Given the description of an element on the screen output the (x, y) to click on. 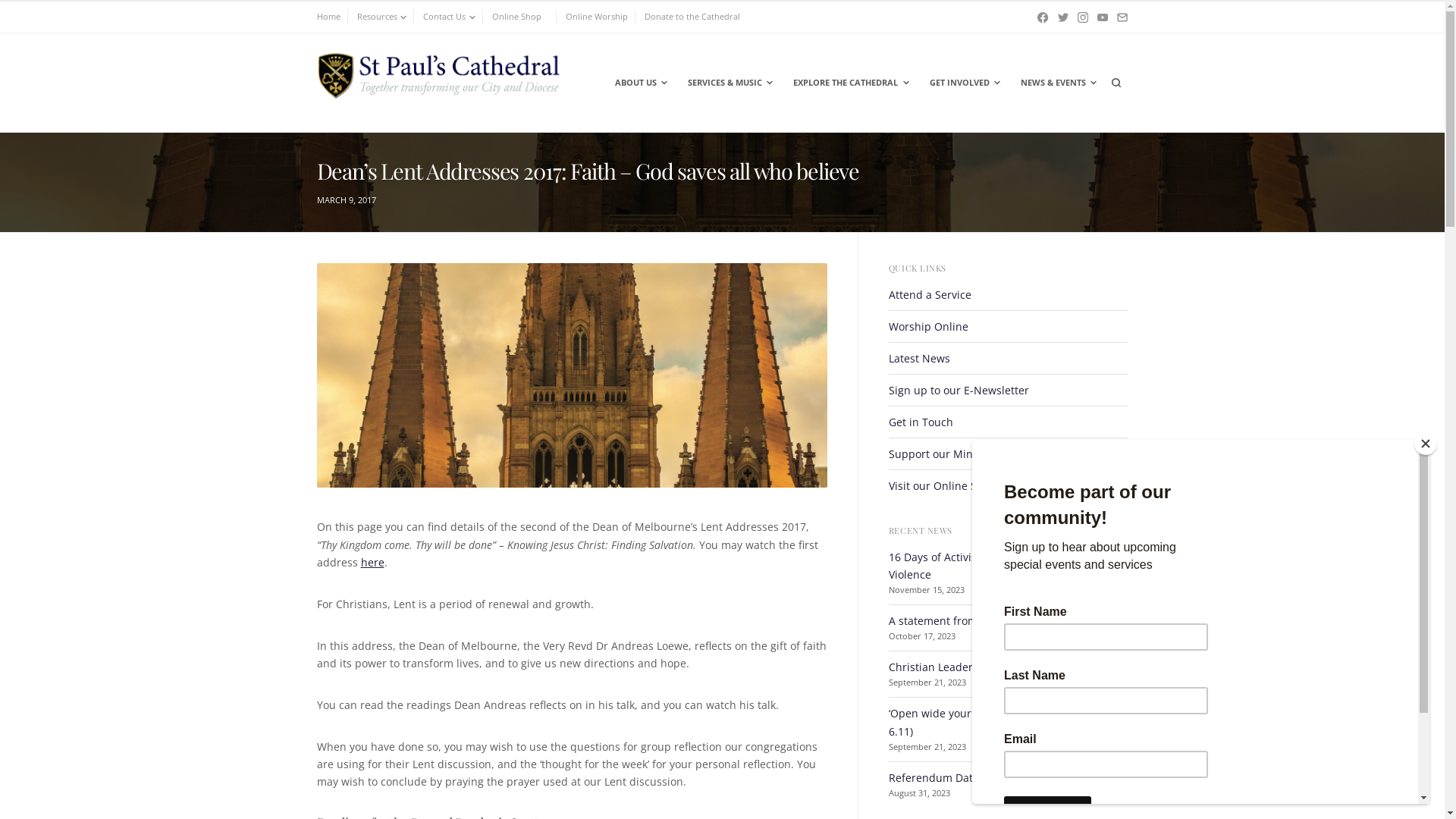
Home Element type: text (328, 16)
Twitter Element type: text (1062, 16)
Online Worship Element type: text (596, 16)
Resources Element type: text (381, 16)
Support our Ministry Element type: text (941, 453)
OPEN A SEARCH BOX Element type: text (1115, 82)
Contact Us Element type: text (449, 16)
Facebook Element type: text (1042, 16)
Worship Online Element type: text (928, 326)
Attend a Service Element type: text (929, 294)
Email Element type: text (1122, 16)
Instagram Element type: text (1082, 16)
Sign up to our E-Newsletter Element type: text (958, 389)
Latest News Element type: text (919, 358)
Christian Leaders Affirm, Pray for the Voice Element type: text (997, 666)
ABOUT US Element type: text (639, 82)
NEWS & EVENTS Element type: text (1057, 82)
EXPLORE THE CATHEDRAL Element type: text (849, 82)
SERVICES & MUSIC Element type: text (728, 82)
A statement from the Dean Element type: text (957, 620)
GET INVOLVED Element type: text (963, 82)
St Paul's Cathedral Melbourne Element type: text (438, 130)
16 Days of Activism Against Gender Based Violence Element type: text (995, 565)
Youtube Element type: text (1102, 16)
Donate to the Cathedral Element type: text (692, 16)
here Element type: text (372, 562)
Referendum Date Confirmed Element type: text (961, 777)
Get in Touch Element type: text (920, 421)
Visit our Online Shop Element type: text (942, 485)
